Given the description of an element on the screen output the (x, y) to click on. 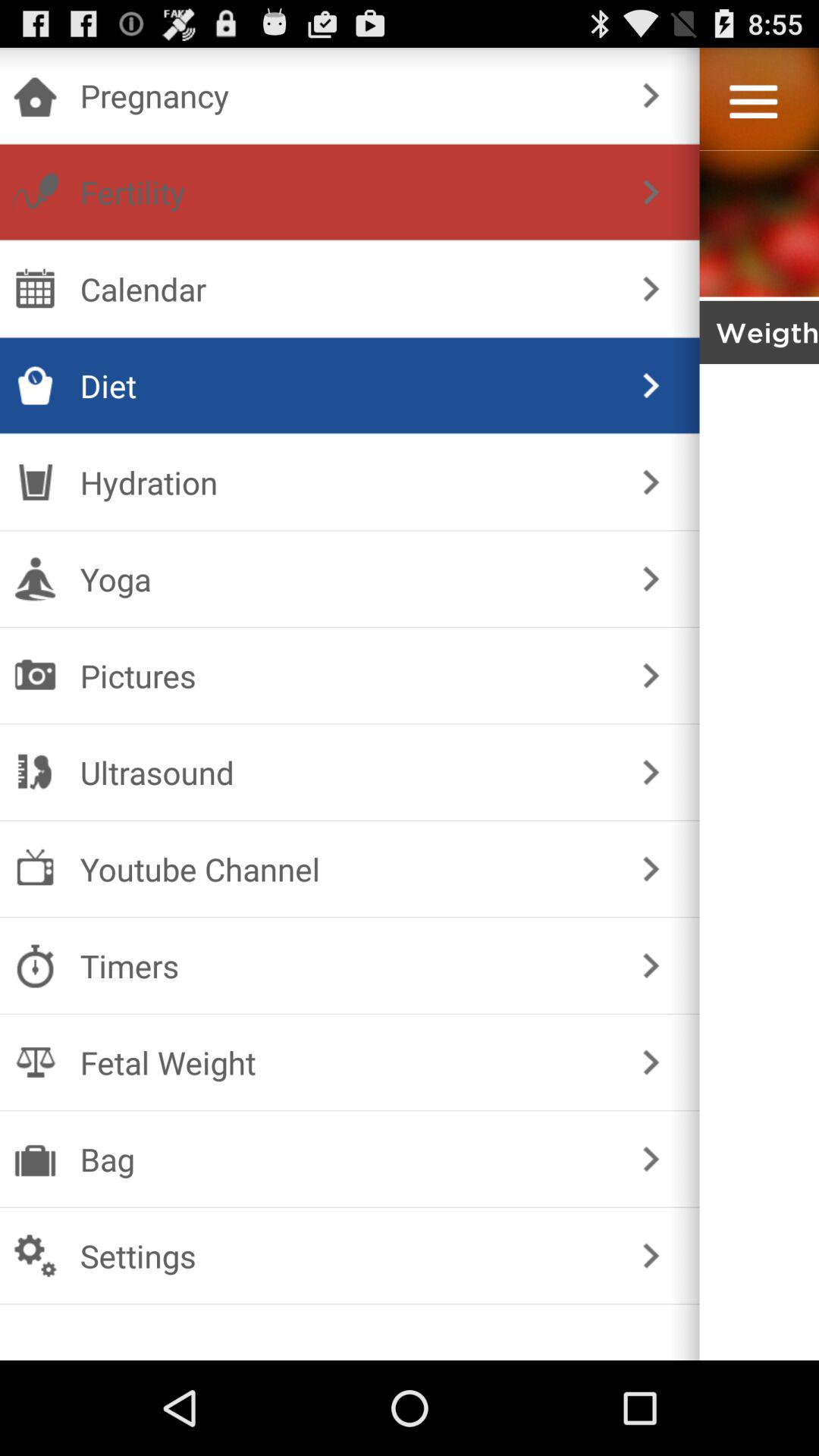
tap checkbox below the pregnancy checkbox (346, 191)
